Given the description of an element on the screen output the (x, y) to click on. 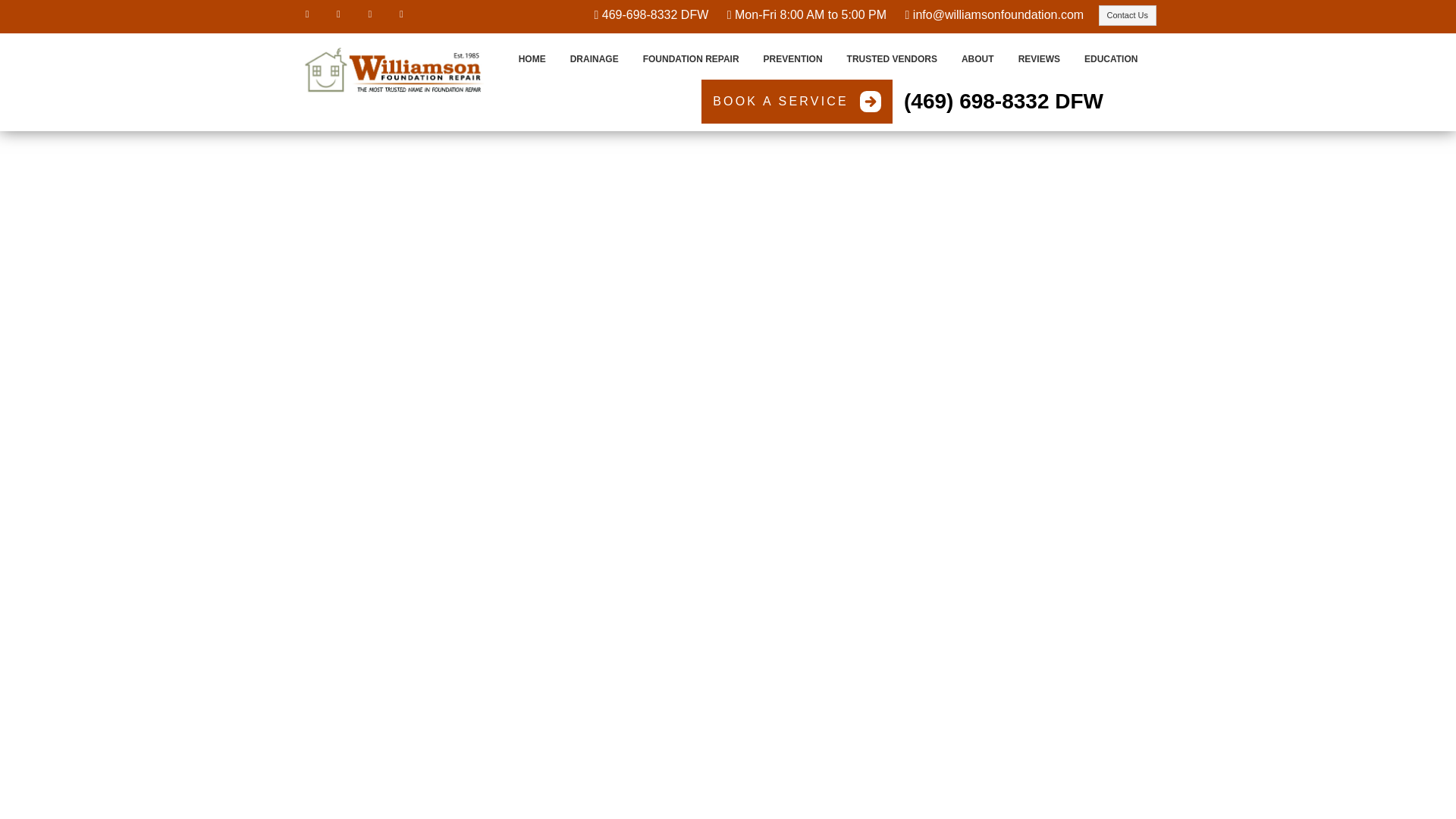
DRAINAGE (593, 59)
Contact Us (1127, 14)
PREVENTION (792, 59)
ABOUT (977, 59)
BOOK A SERVICE (796, 101)
FOUNDATION REPAIR (690, 59)
TRUSTED VENDORS (891, 59)
EDUCATION (1110, 59)
469-698-8332 DFW (655, 14)
REVIEWS (1038, 59)
